Given the description of an element on the screen output the (x, y) to click on. 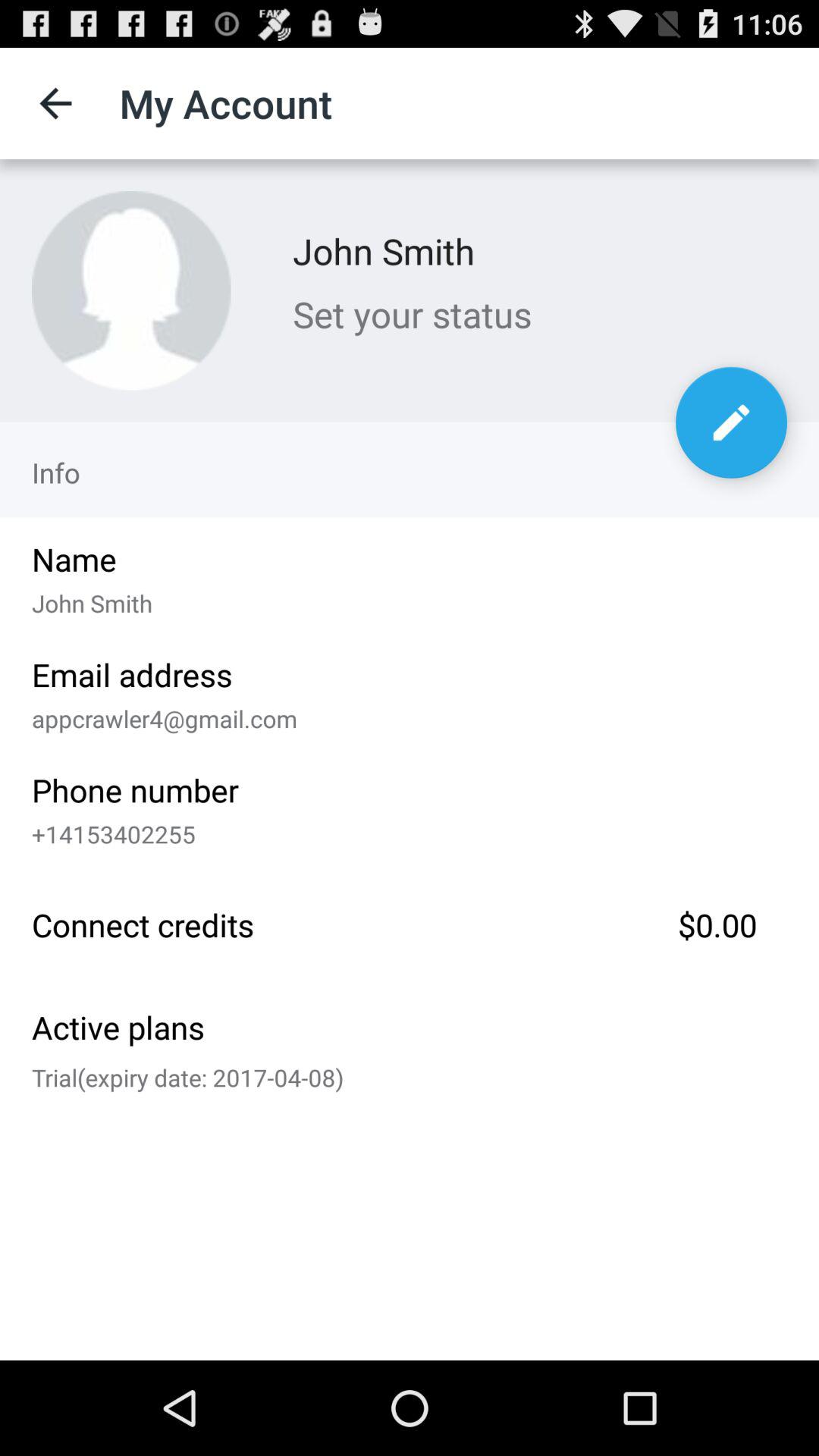
open information page (731, 422)
